Given the description of an element on the screen output the (x, y) to click on. 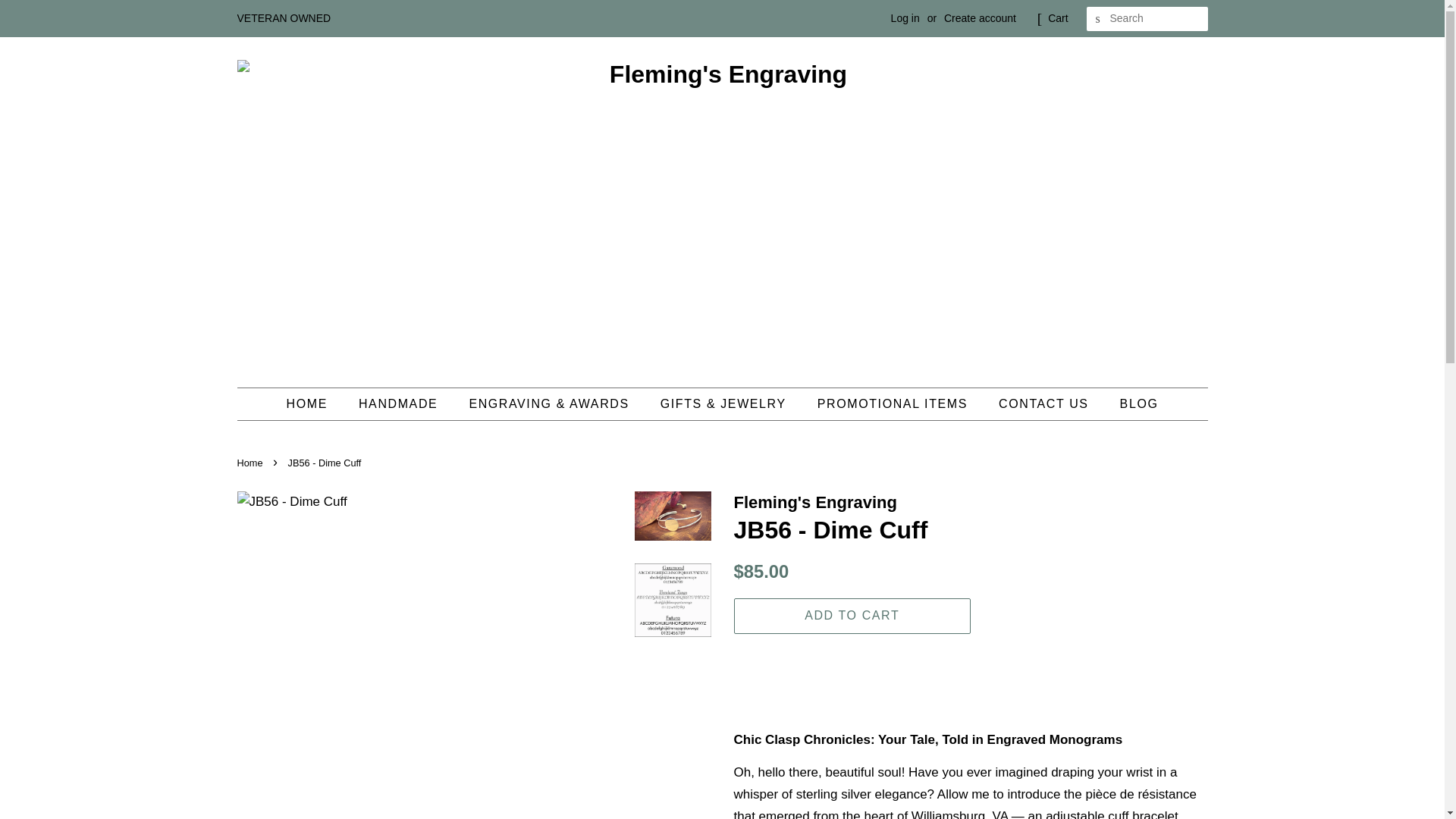
CONTACT US (1045, 403)
Log in (905, 18)
Cart (1057, 18)
Home (250, 462)
BLOG (1133, 403)
PROMOTIONAL ITEMS (894, 403)
Create account (979, 18)
Back to the frontpage (250, 462)
ADD TO CART (852, 615)
HANDMADE (399, 403)
SEARCH (1097, 18)
HOME (314, 403)
